Given the description of an element on the screen output the (x, y) to click on. 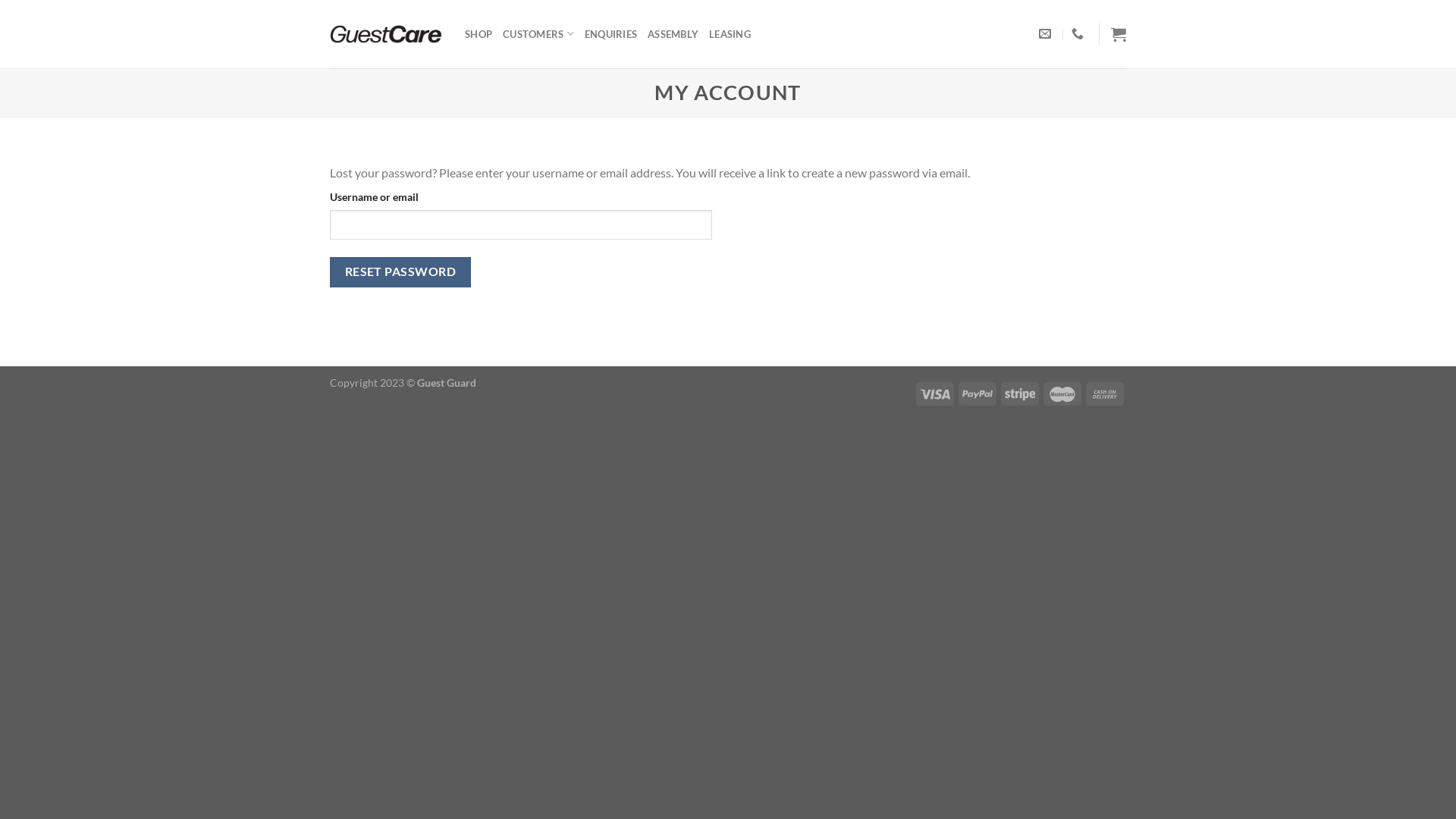
ENQUIRIES Element type: text (610, 33)
ASSEMBLY Element type: text (672, 33)
LEASING Element type: text (729, 33)
SHOP Element type: text (478, 33)
RESET PASSWORD Element type: text (399, 271)
GuestGuard Element type: hover (385, 34)
Skip to content Element type: text (0, 0)
CUSTOMERS Element type: text (538, 33)
Cart Element type: hover (1118, 33)
